Given the description of an element on the screen output the (x, y) to click on. 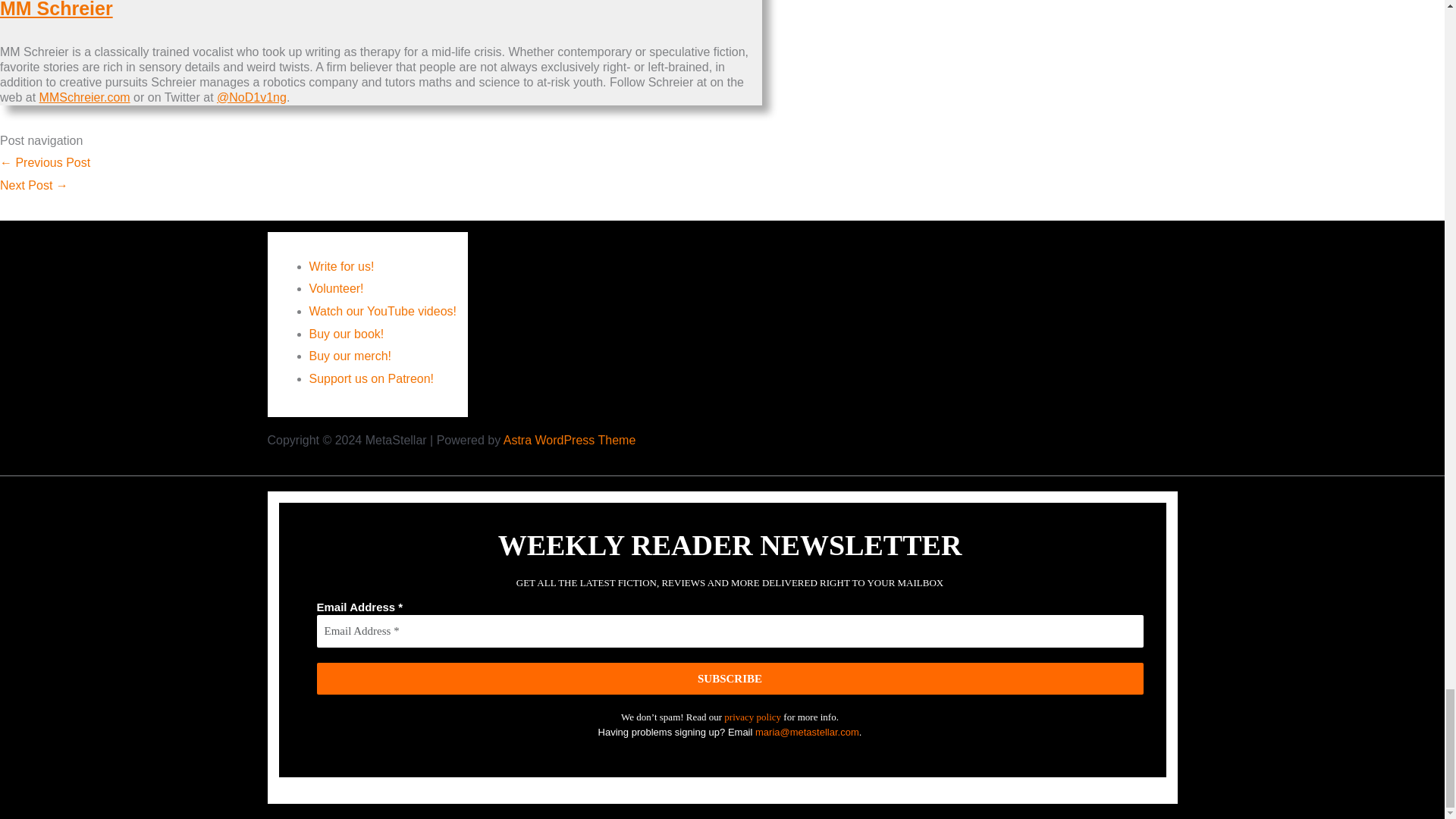
The Roommate (34, 185)
Email Address (729, 631)
Moira and Ellie (45, 162)
SUBSCRIBE (729, 678)
